Given the description of an element on the screen output the (x, y) to click on. 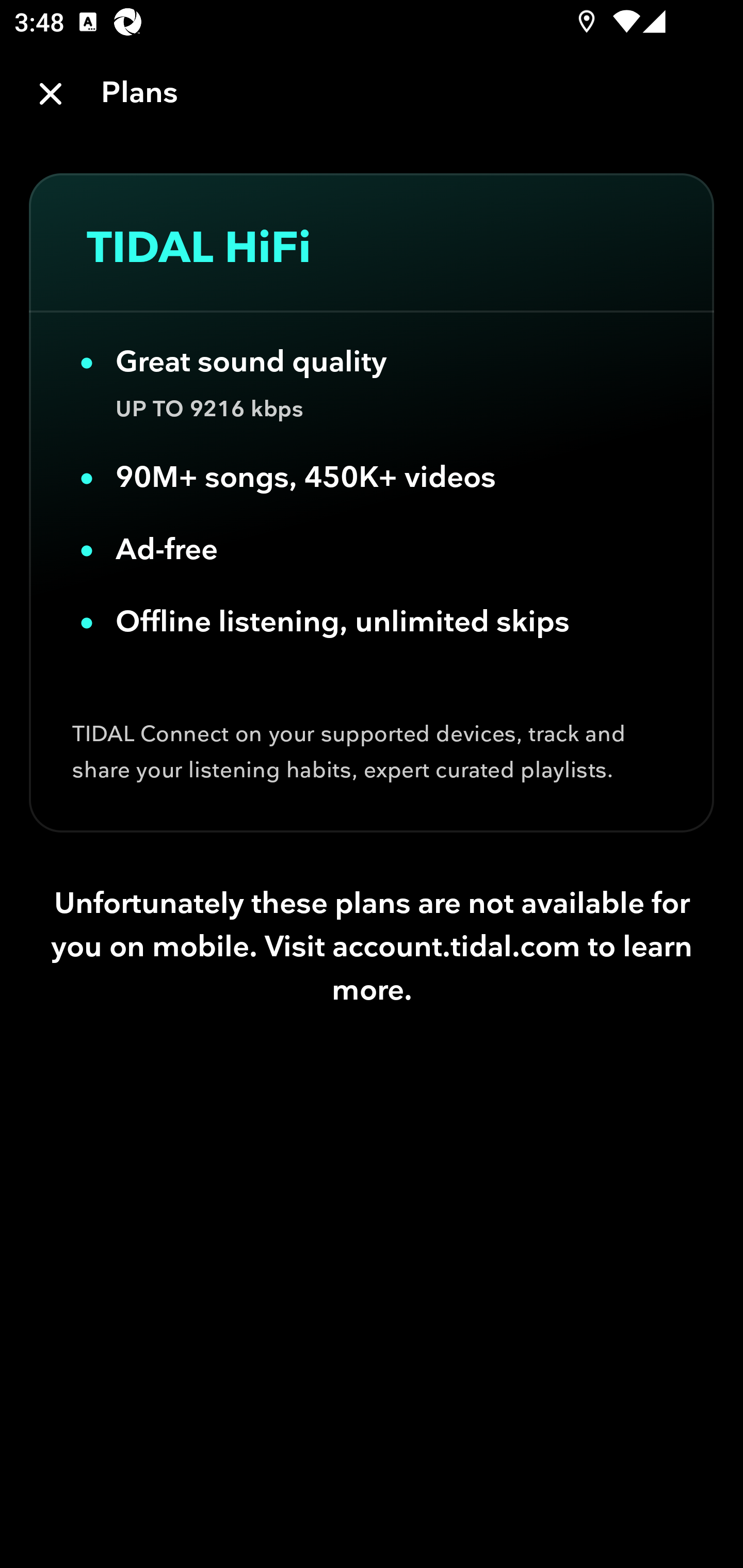
Close (50, 93)
